Given the description of an element on the screen output the (x, y) to click on. 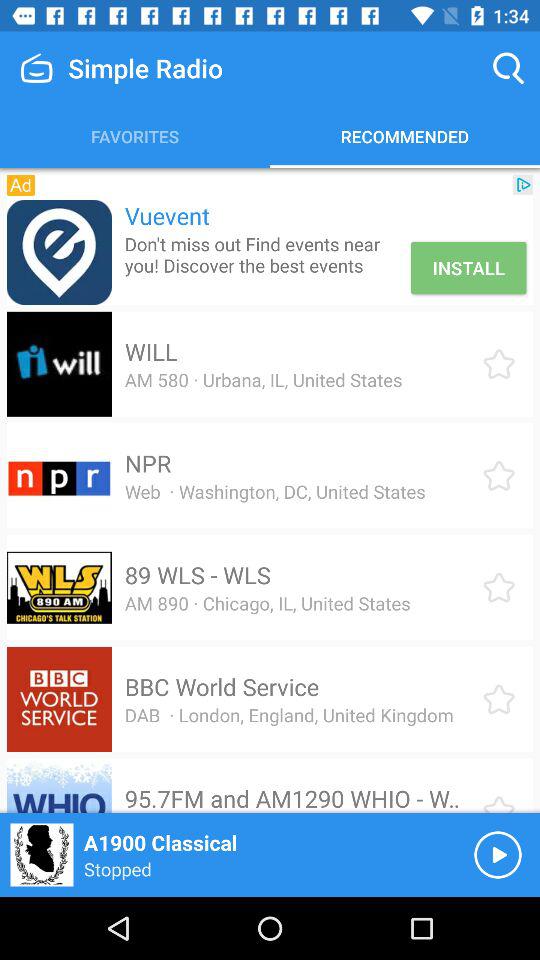
press the icon to the right of the vuevent icon (523, 184)
